Given the description of an element on the screen output the (x, y) to click on. 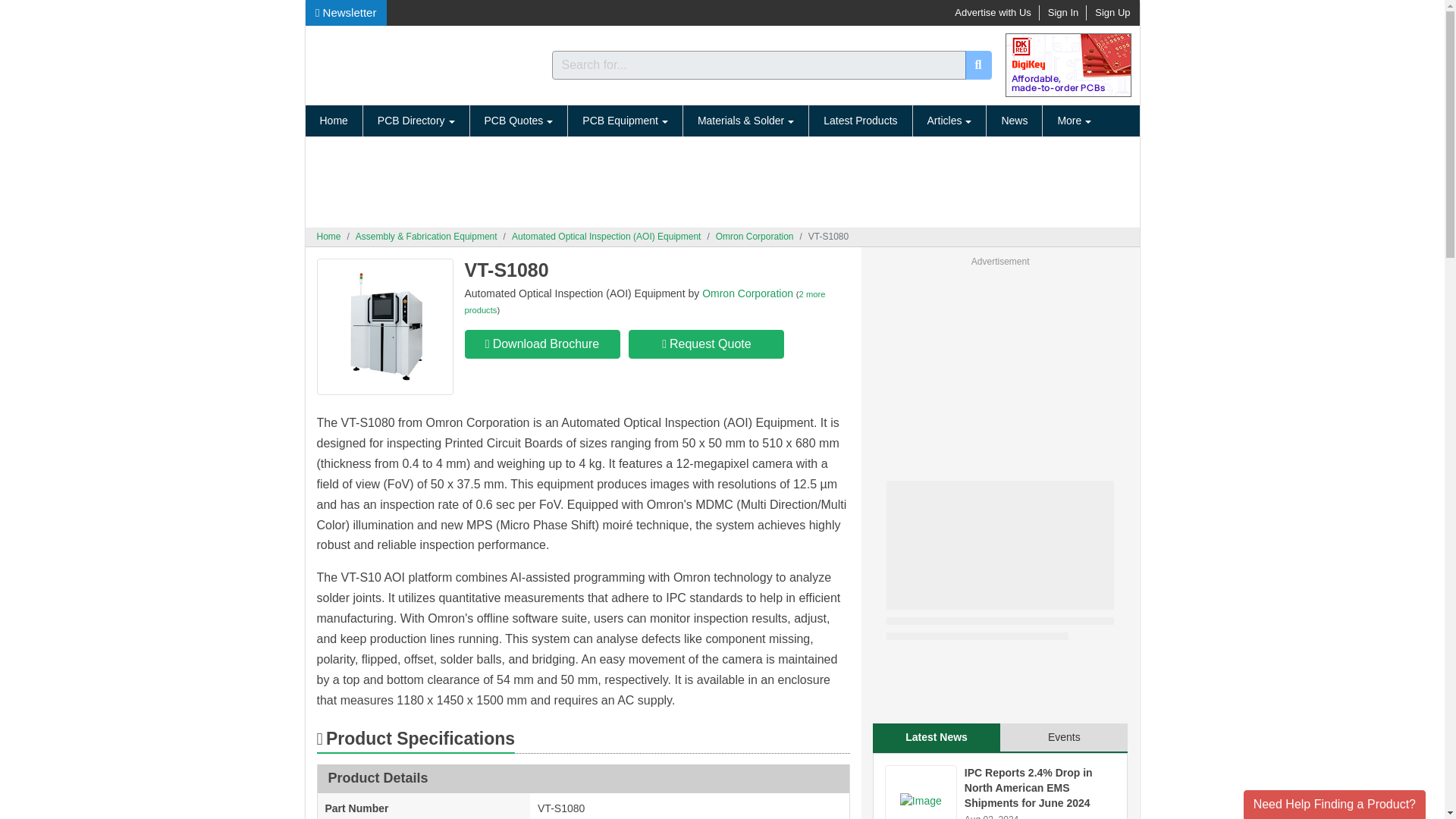
Home (332, 120)
Sign In (1063, 12)
PCB Equipment (624, 120)
PCB Directory (415, 120)
PCB Quotes (517, 120)
Sign Up (1112, 12)
Advertise with Us (993, 12)
Newsletter (345, 12)
